Given the description of an element on the screen output the (x, y) to click on. 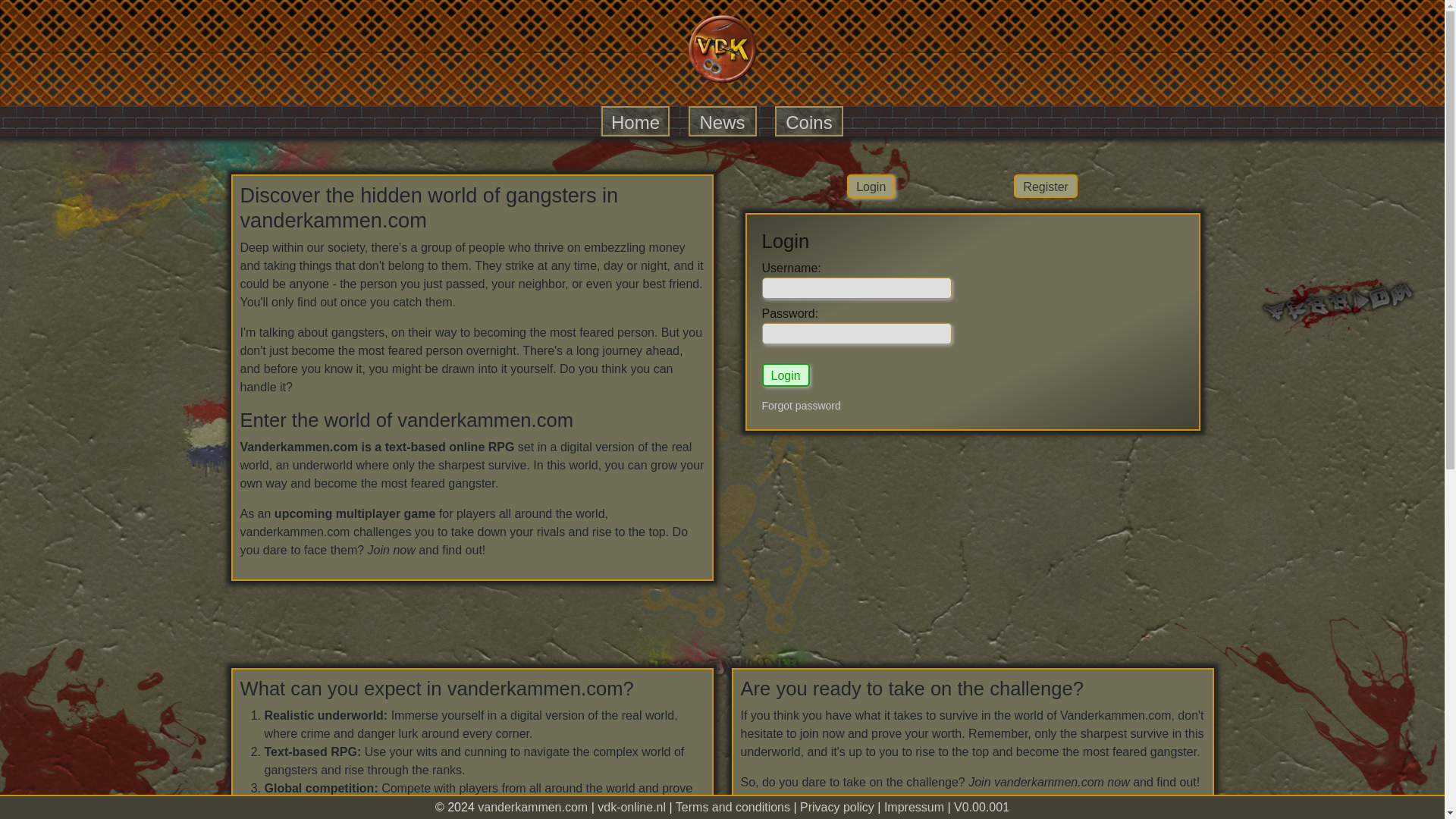
Login (871, 186)
V0.00.001 (981, 807)
vanderkammen.com (532, 807)
Register (1045, 186)
Coins (808, 121)
Impressum (913, 807)
Home (635, 121)
Forgot password (800, 405)
Privacy policy (837, 807)
Login (785, 374)
